Given the description of an element on the screen output the (x, y) to click on. 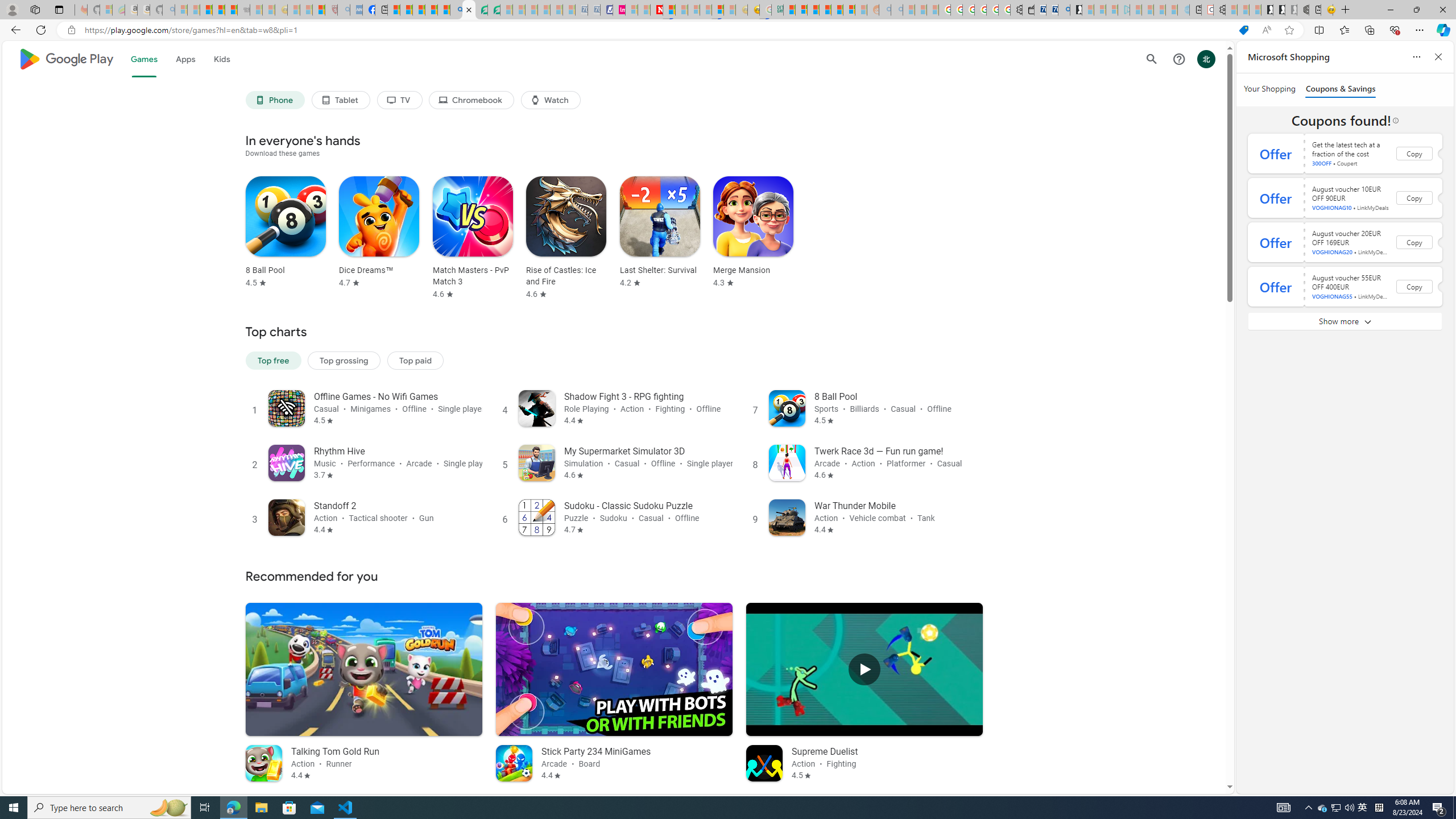
Microsoft account | Privacy - Sleeping (1111, 9)
14 Common Myths Debunked By Scientific Facts - Sleeping (682, 9)
Top paid (415, 359)
Chromebook (472, 99)
The Weather Channel - MSN (205, 9)
MSNBC - MSN (789, 9)
